Given the description of an element on the screen output the (x, y) to click on. 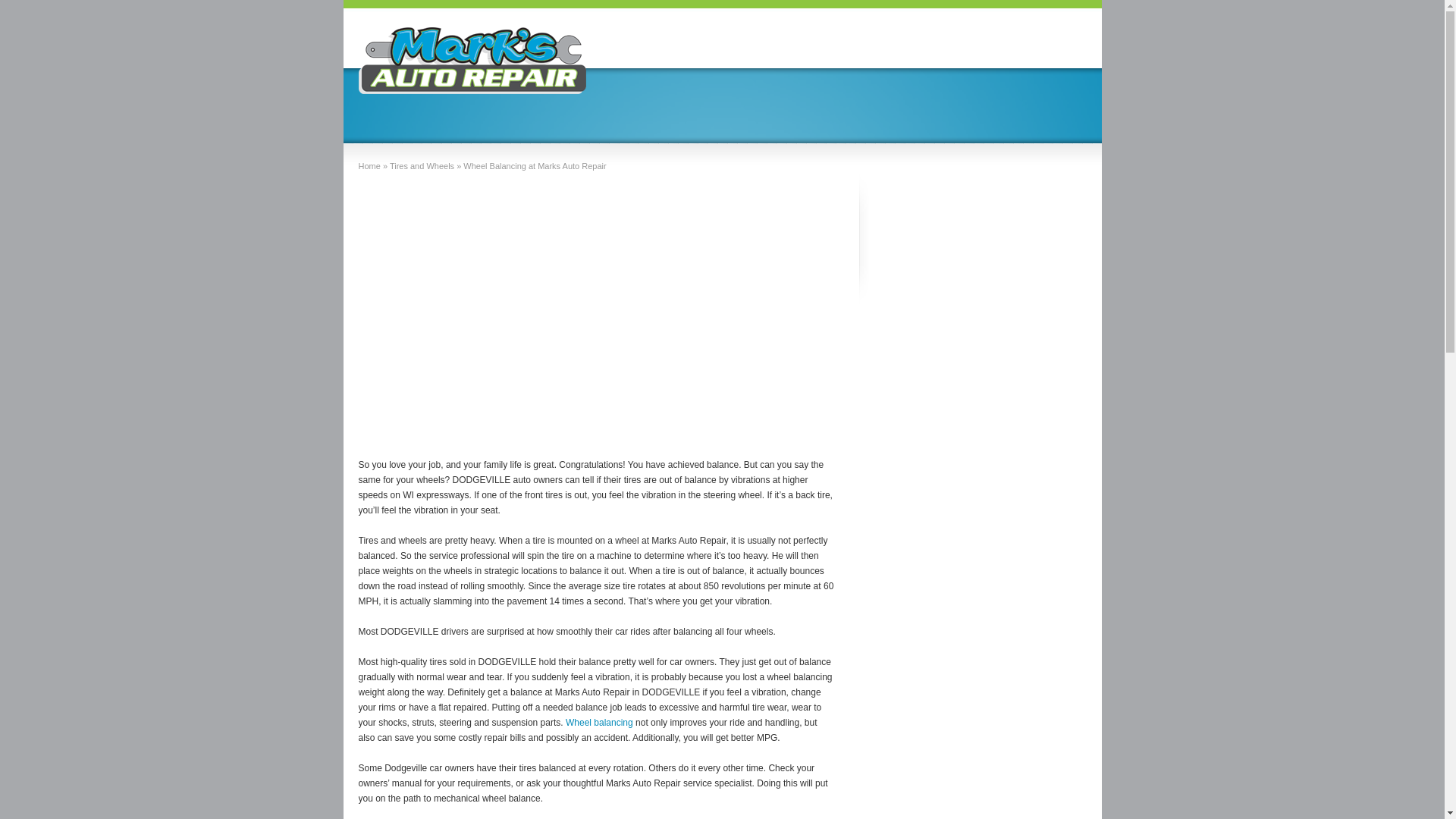
Wheel balancing (599, 722)
Tires and Wheels (422, 165)
Services (715, 53)
wheel balancing (599, 722)
Home (369, 165)
Tires and Wheels (422, 165)
